Given the description of an element on the screen output the (x, y) to click on. 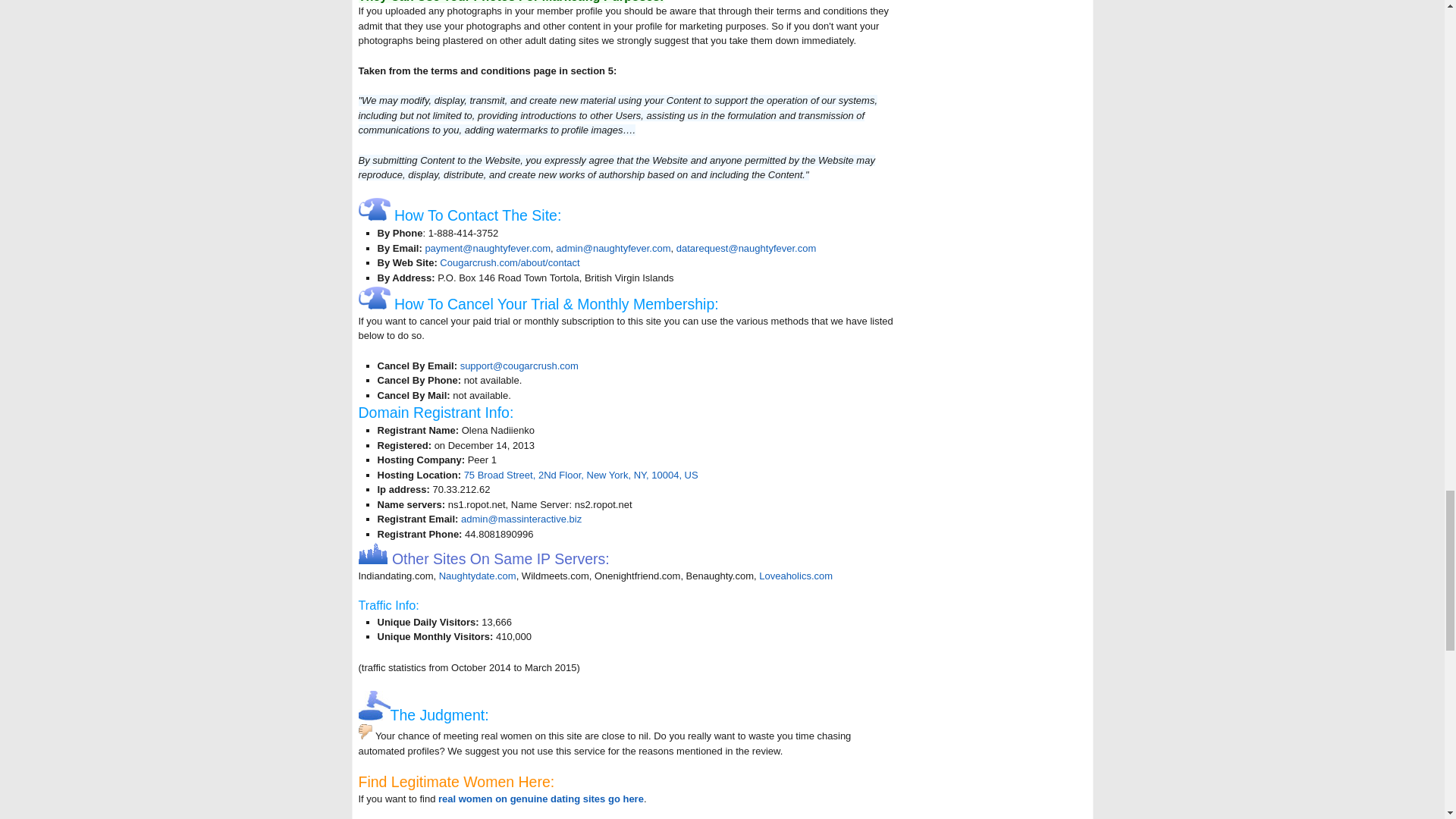
real women on genuine dating sites go here (540, 798)
75 Broad Street, 2Nd Floor, New York, NY, 10004, US (581, 474)
Naughtydate.com (477, 575)
Loveaholics.com (795, 575)
